Given the description of an element on the screen output the (x, y) to click on. 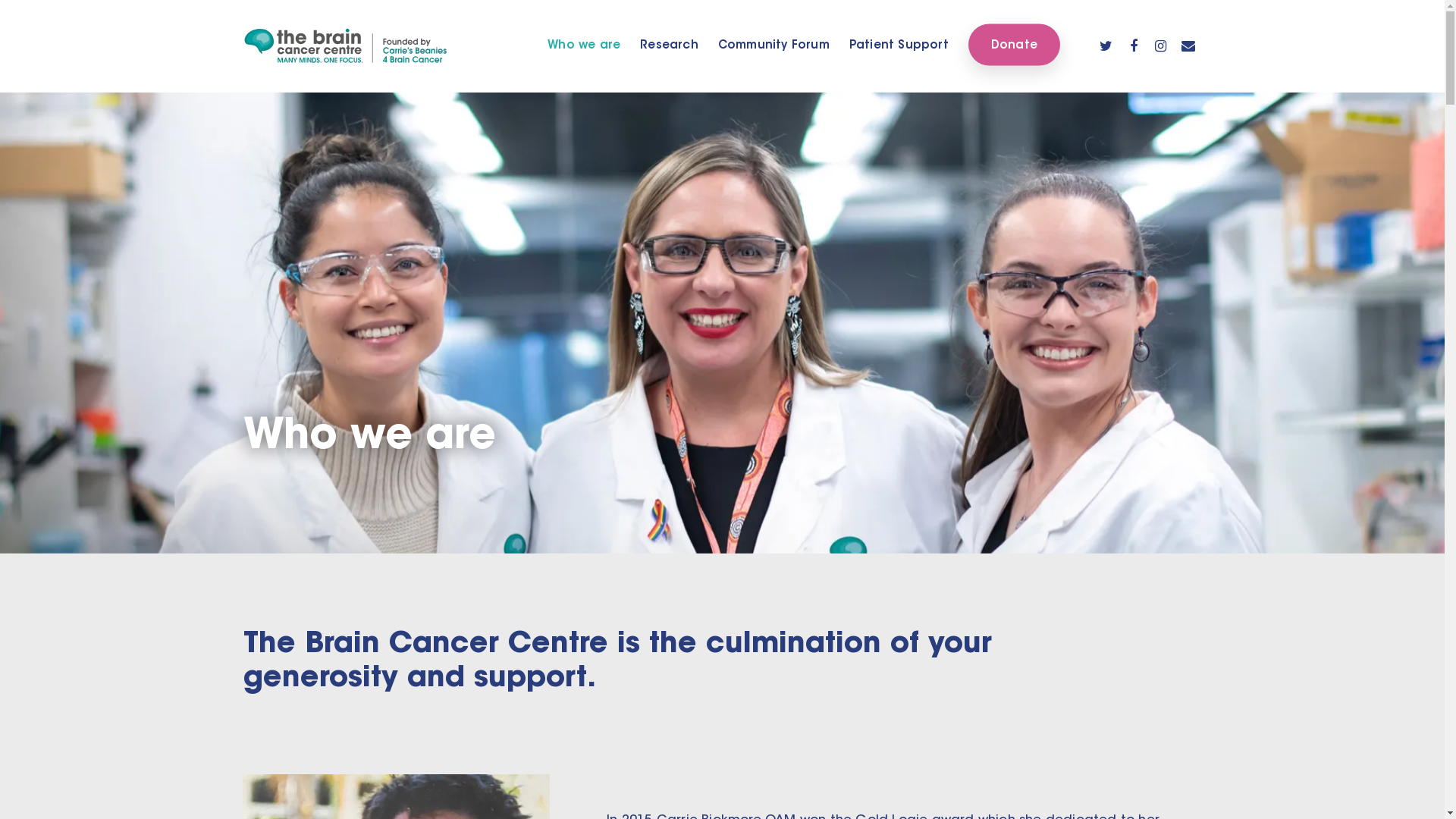
Research Element type: text (669, 46)
Community Forum Element type: text (773, 46)
facebook Element type: text (1133, 45)
Patient Support Element type: text (898, 46)
Donate Element type: text (1014, 44)
Who we are Element type: text (583, 46)
twitter Element type: text (1106, 45)
email Element type: text (1187, 45)
instagram Element type: text (1160, 45)
